Given the description of an element on the screen output the (x, y) to click on. 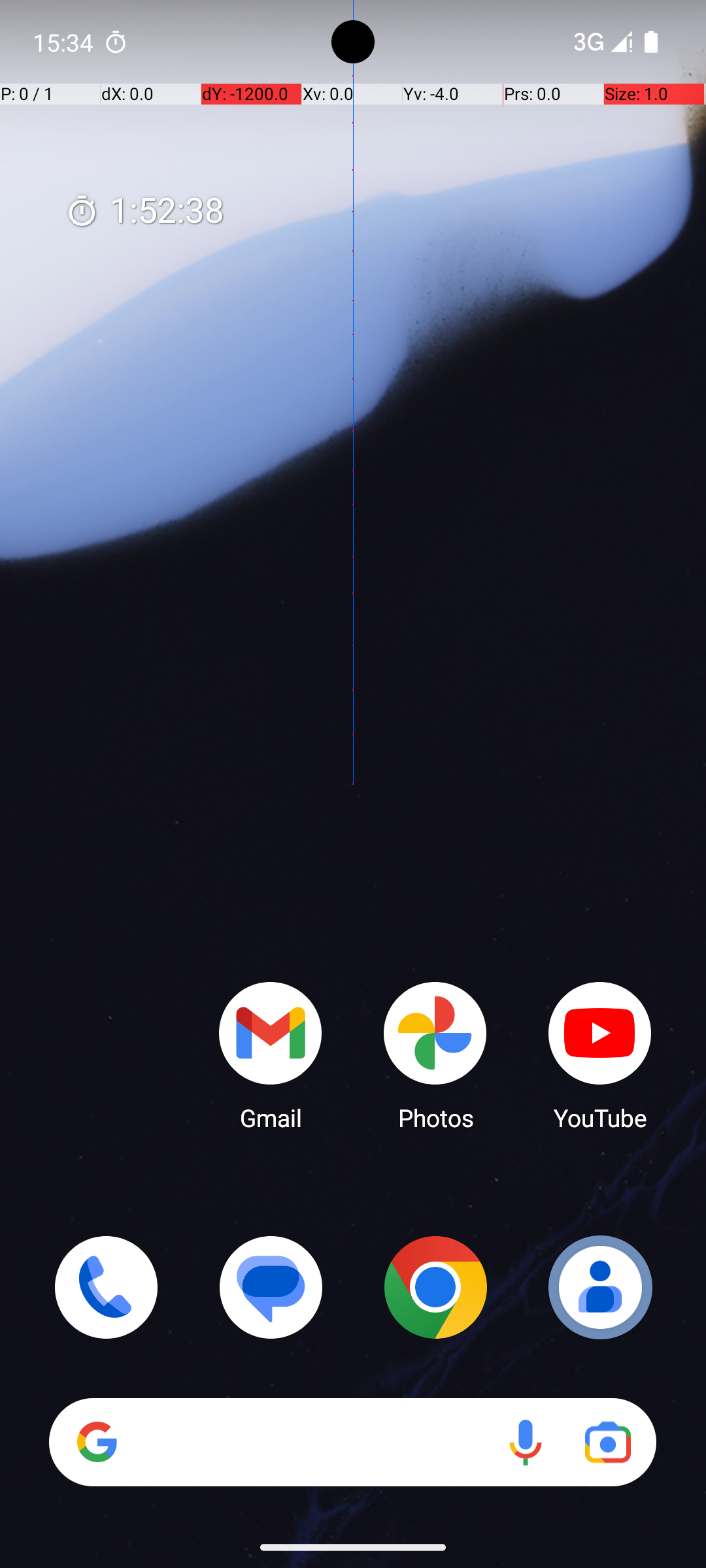
1:52:38 Element type: android.widget.TextView (144, 210)
